Given the description of an element on the screen output the (x, y) to click on. 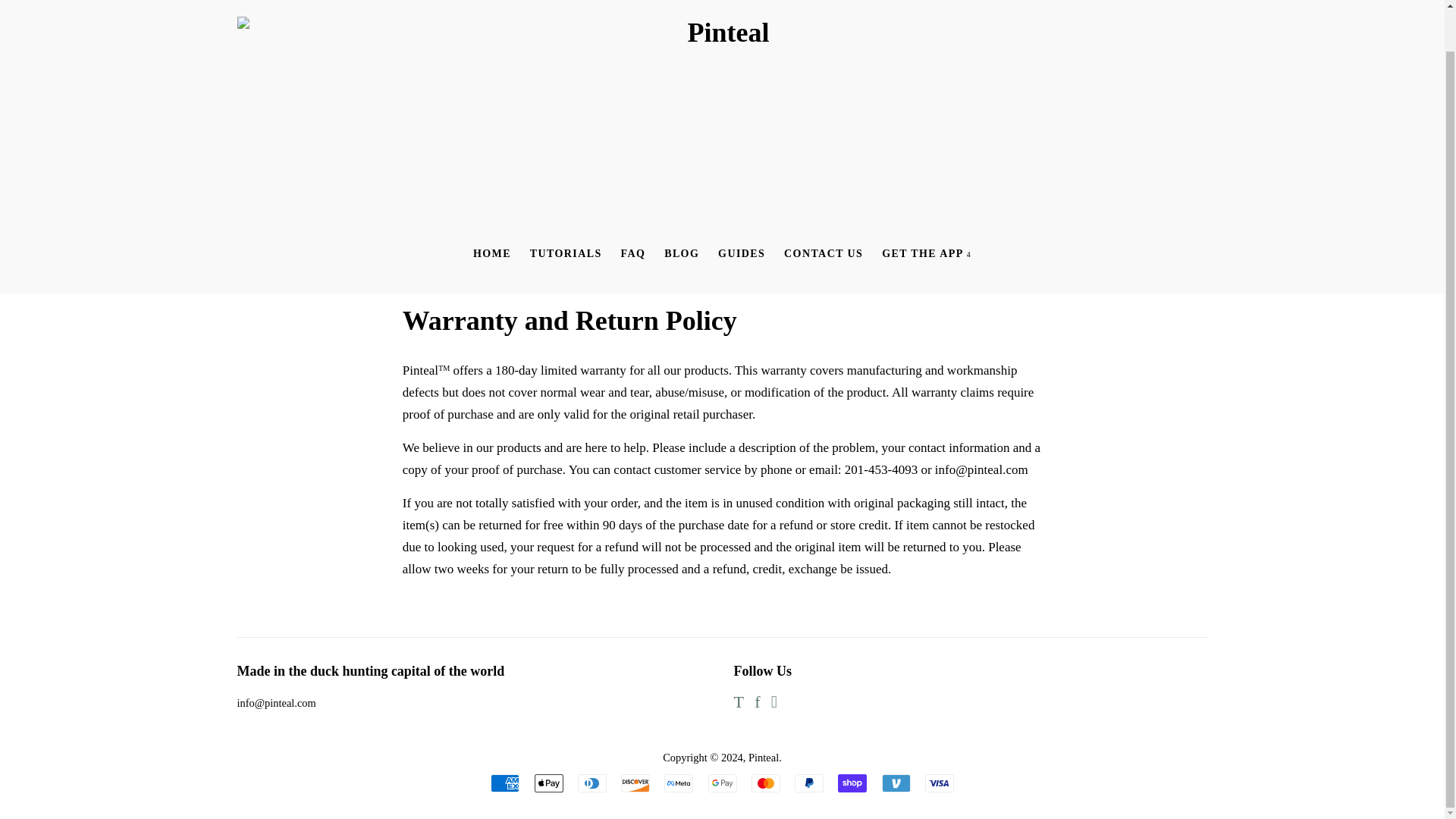
HOME (491, 254)
FAQ (632, 254)
GUIDES (741, 254)
Apple Pay (548, 782)
BLOG (681, 254)
Discover (635, 782)
Google Pay (721, 782)
Venmo (895, 782)
Shop Pay (852, 782)
Meta Pay (678, 782)
